Given the description of an element on the screen output the (x, y) to click on. 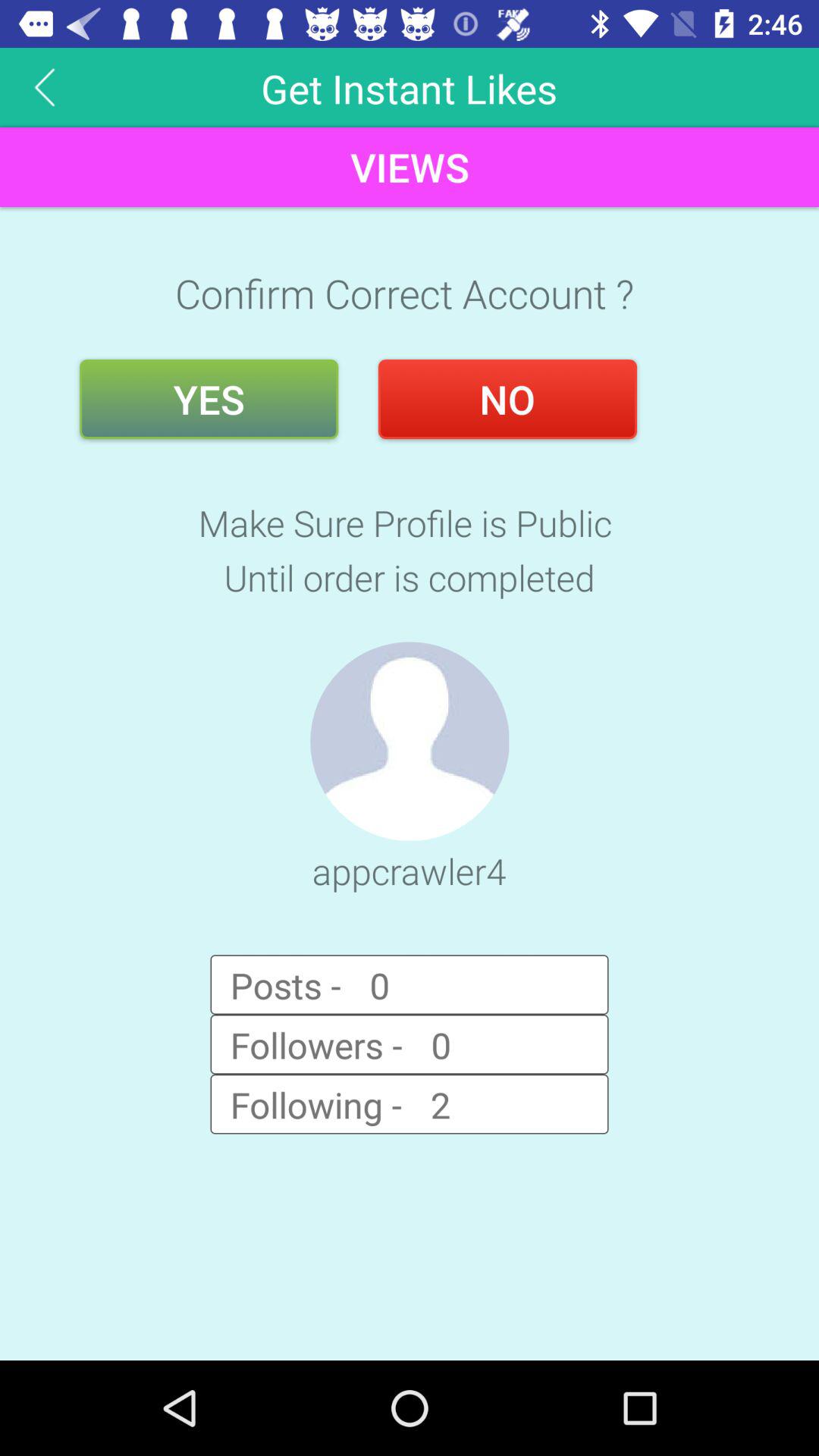
turn on the item above make sure profile (208, 399)
